Given the description of an element on the screen output the (x, y) to click on. 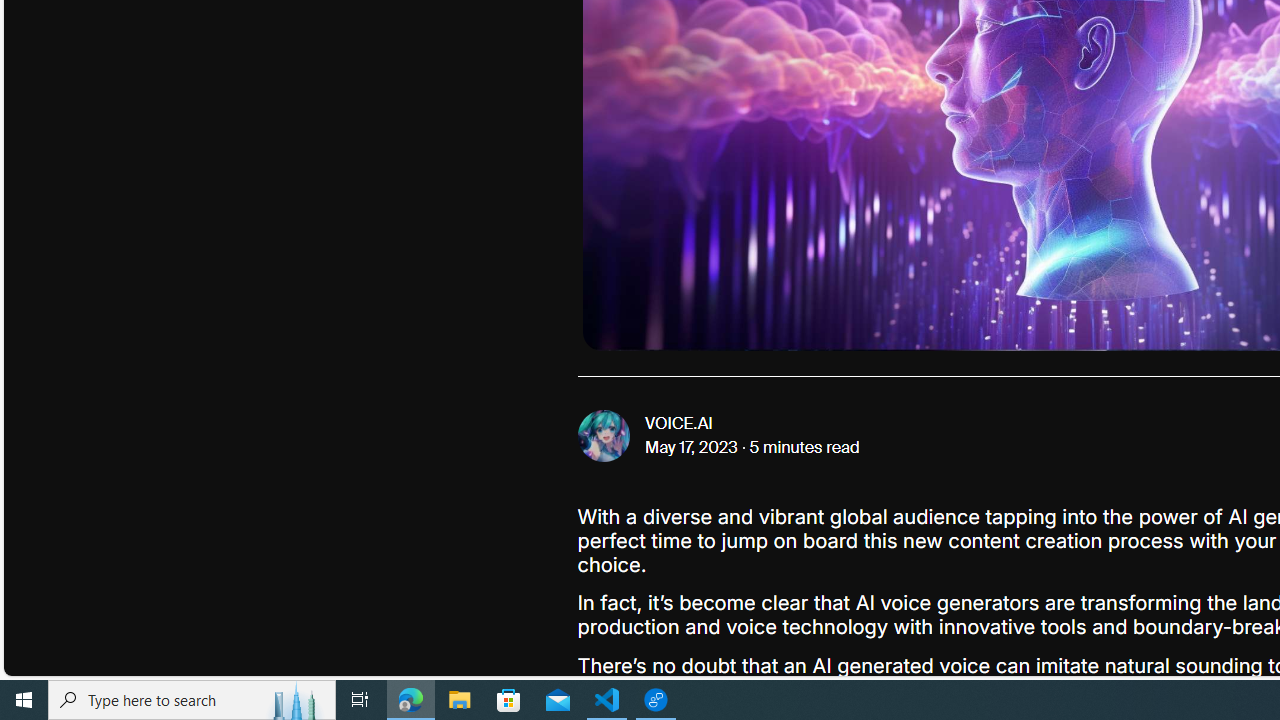
VOICE.AI (678, 423)
5 minutes read (804, 448)
May 17, 2023 (692, 448)
